Given the description of an element on the screen output the (x, y) to click on. 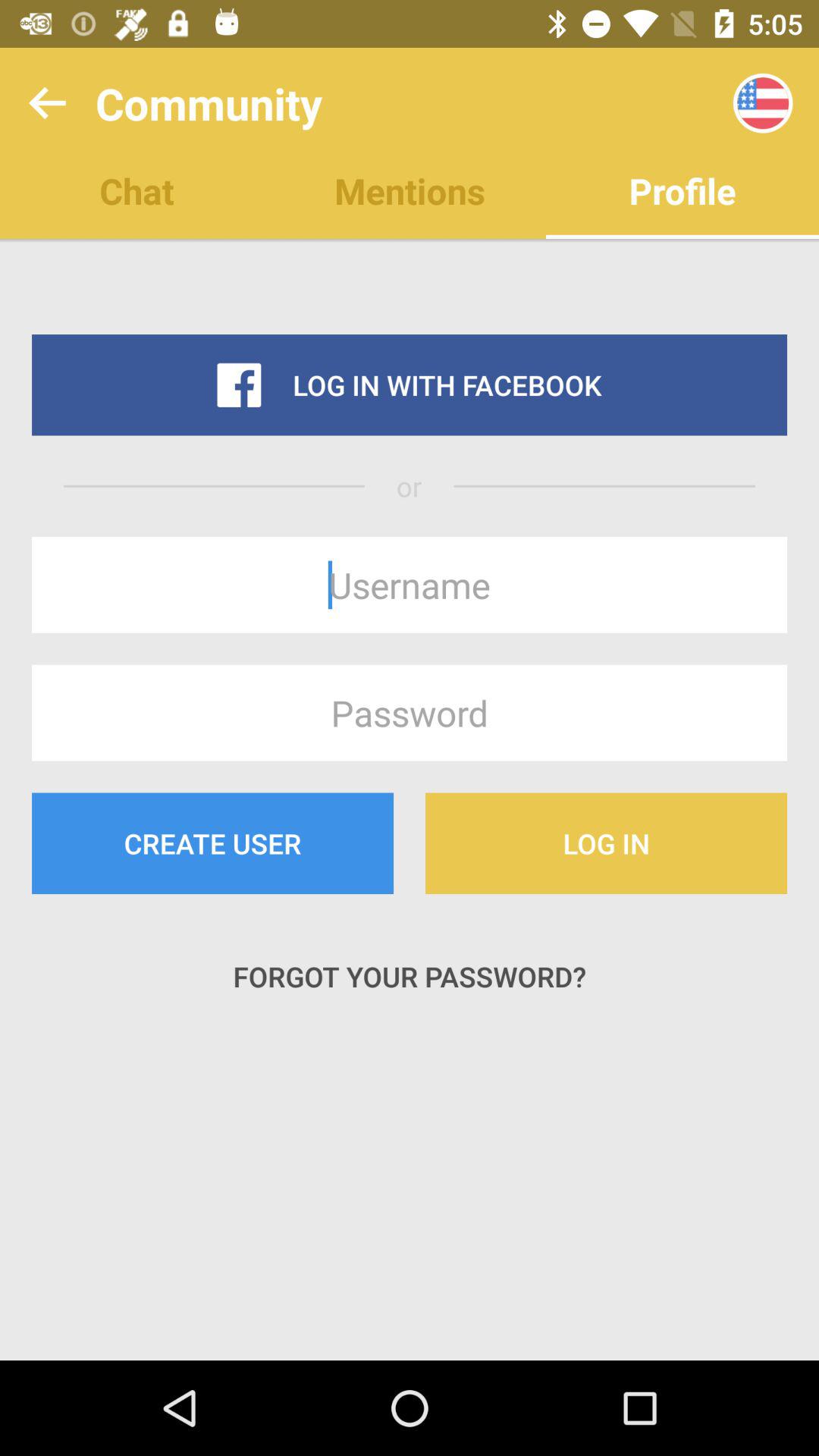
turn on forgot your password? icon (409, 976)
